Given the description of an element on the screen output the (x, y) to click on. 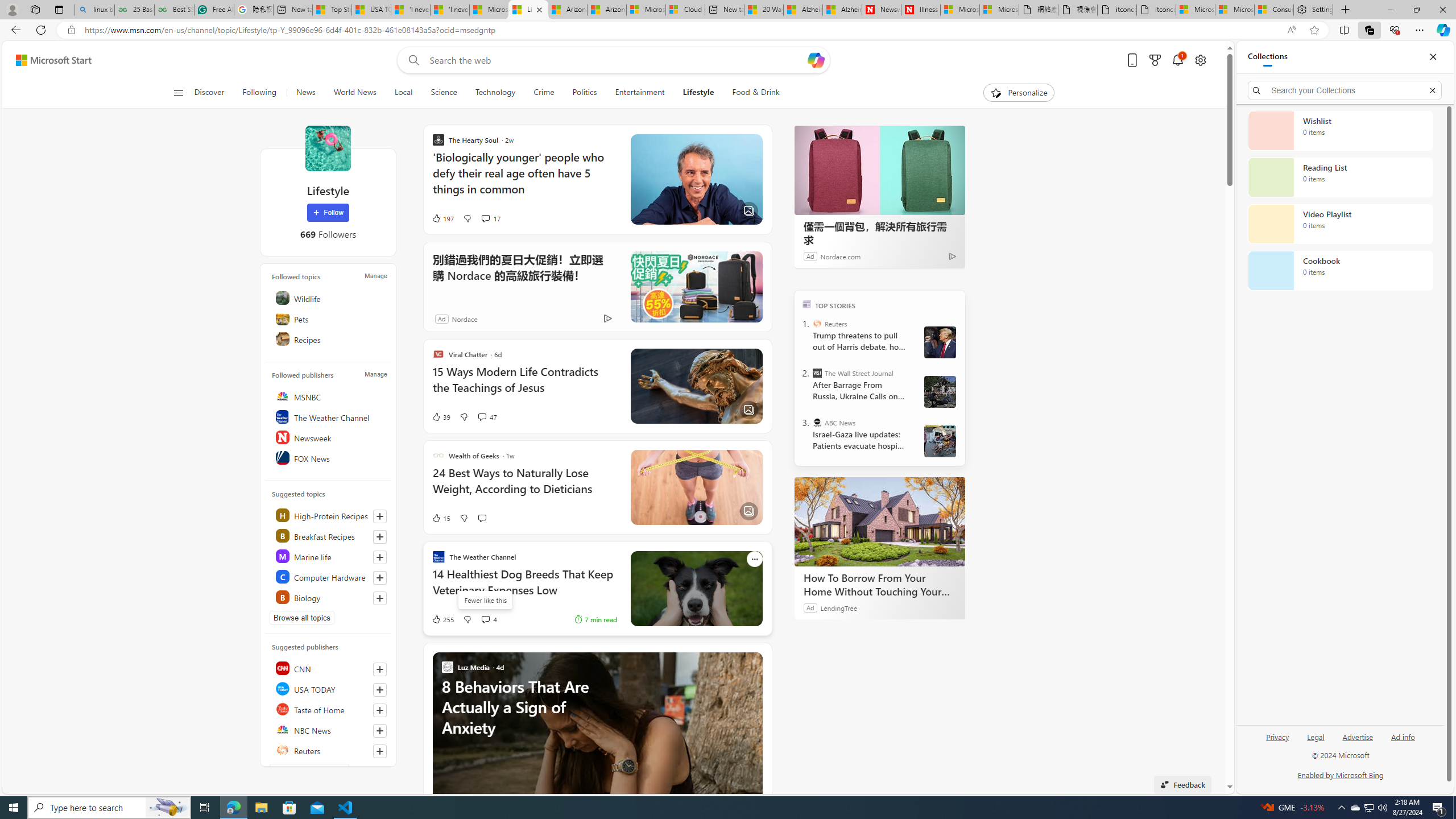
Reuters (816, 323)
USA TODAY - MSN (371, 9)
Enter your search term (617, 59)
25 Basic Linux Commands For Beginners - GeeksforGeeks (133, 9)
